Given the description of an element on the screen output the (x, y) to click on. 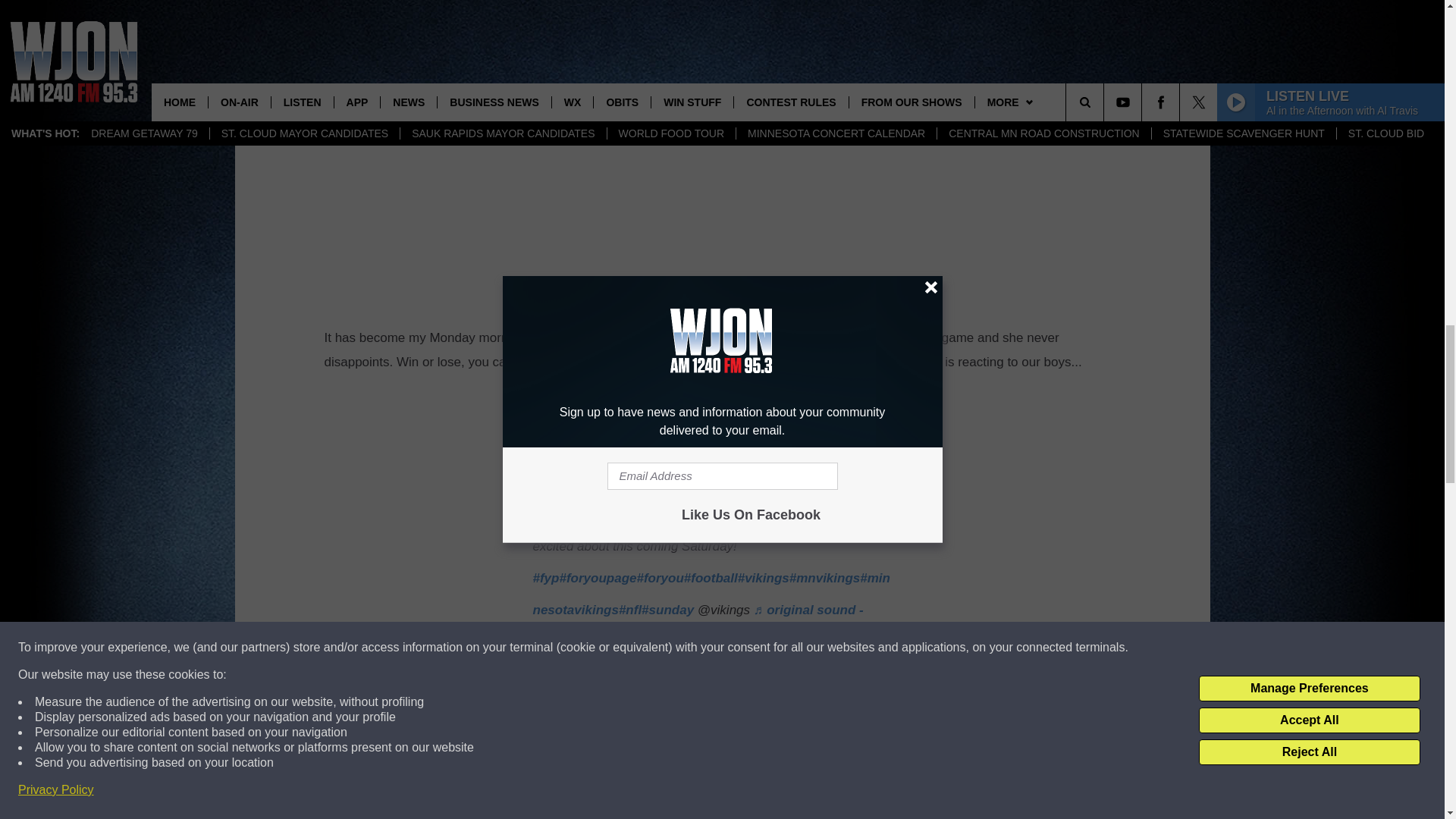
nfl (630, 609)
sunday (668, 609)
vikings (763, 577)
football (711, 577)
fyp (545, 577)
mnvikings (824, 577)
foryoupage (597, 577)
minnesotavikings (710, 593)
foryou (660, 577)
